Given the description of an element on the screen output the (x, y) to click on. 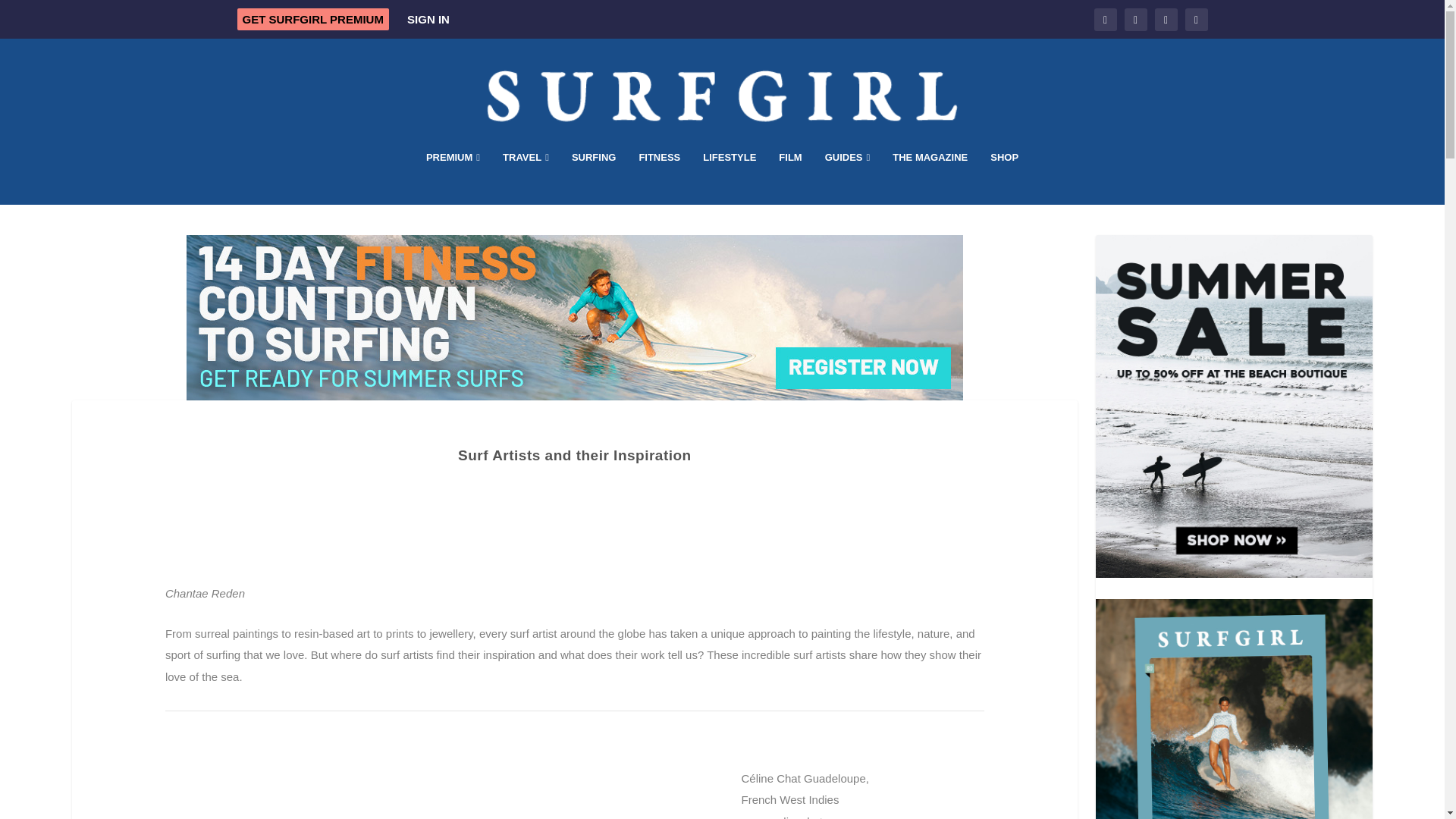
SIGN IN (428, 19)
LIFESTYLE (729, 177)
PREMIUM (453, 177)
GET SURFGIRL PREMIUM (311, 19)
